Given the description of an element on the screen output the (x, y) to click on. 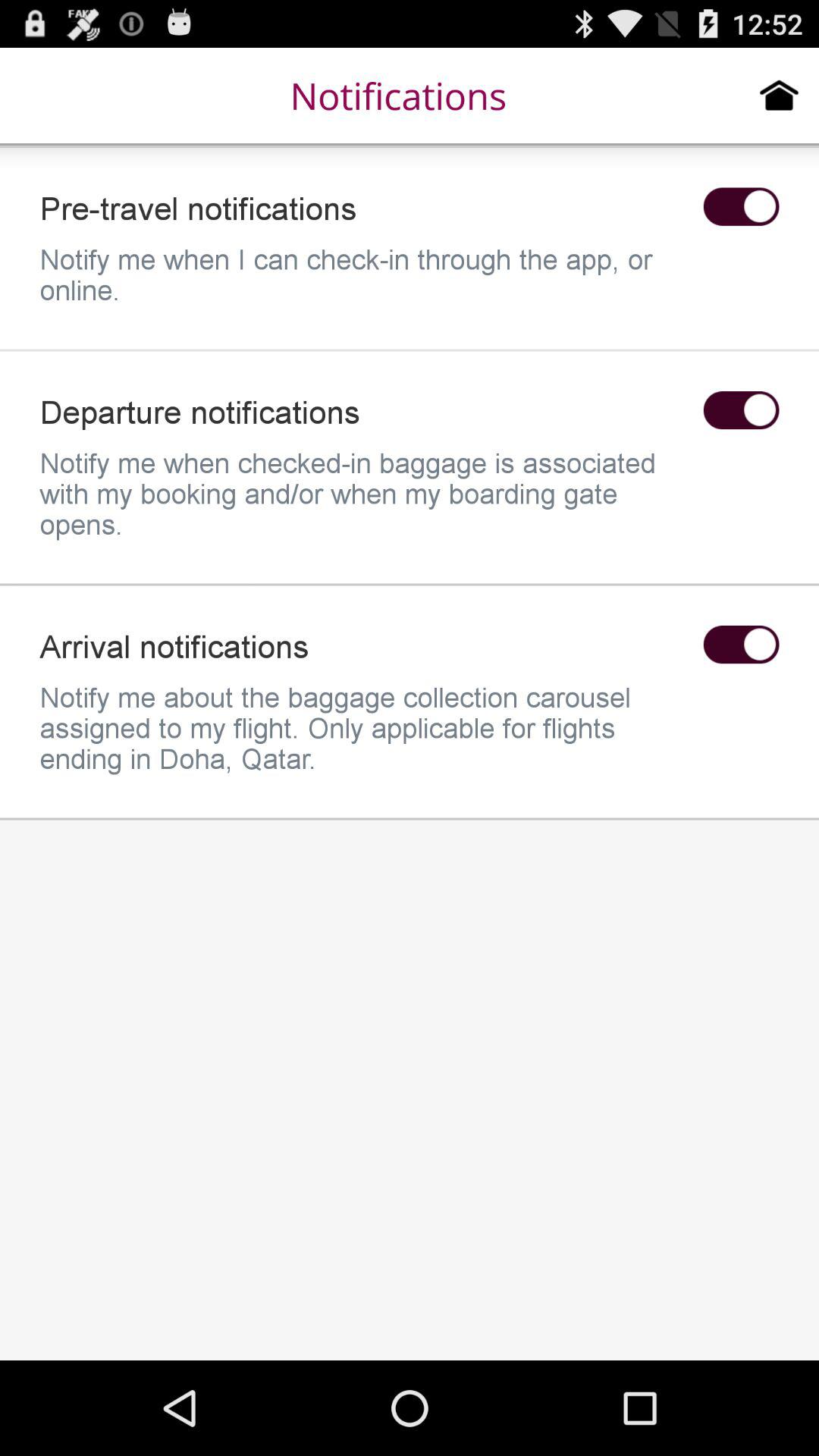
go to home (779, 95)
